Given the description of an element on the screen output the (x, y) to click on. 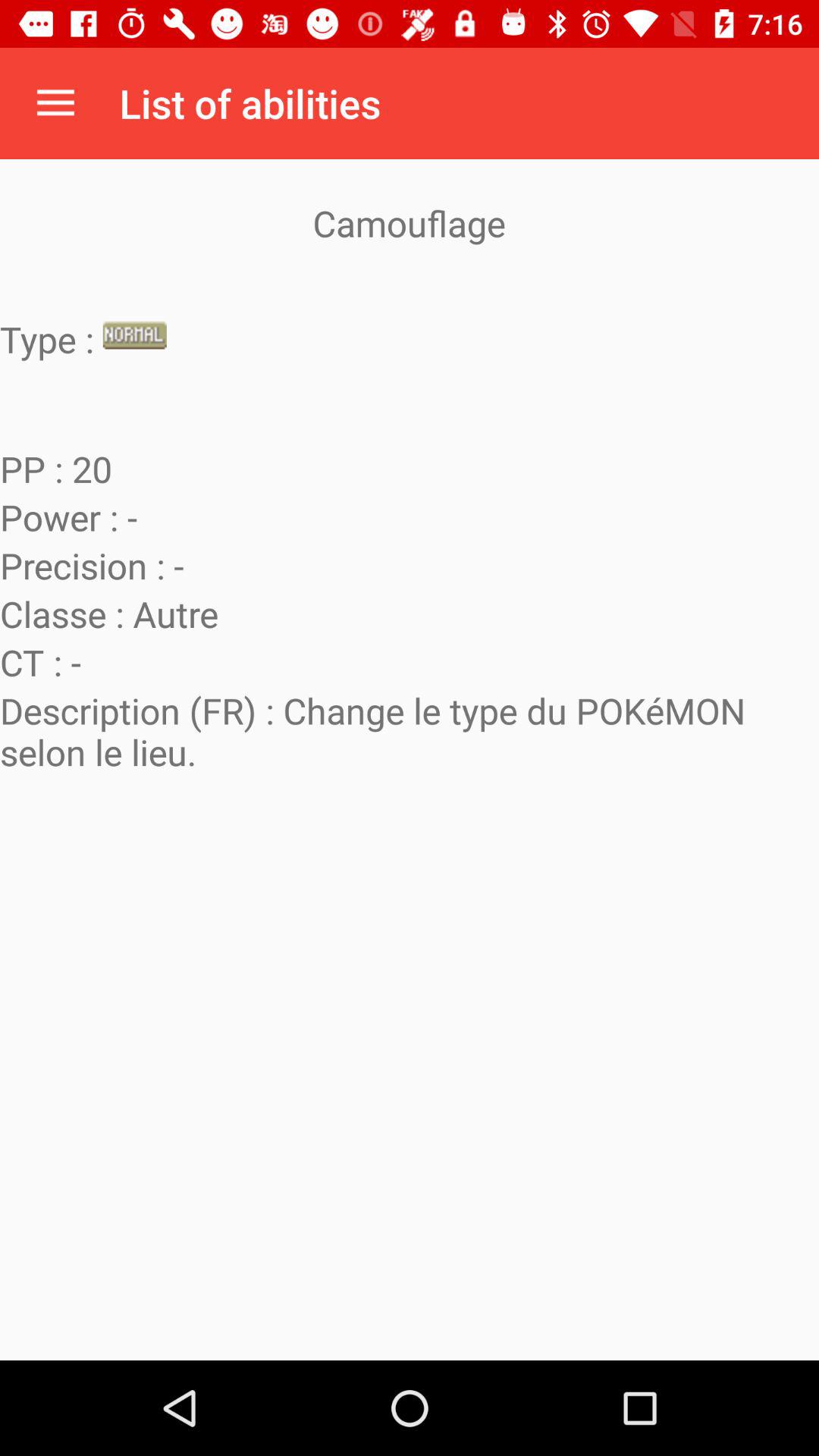
open app next to the list of abilities item (55, 103)
